Given the description of an element on the screen output the (x, y) to click on. 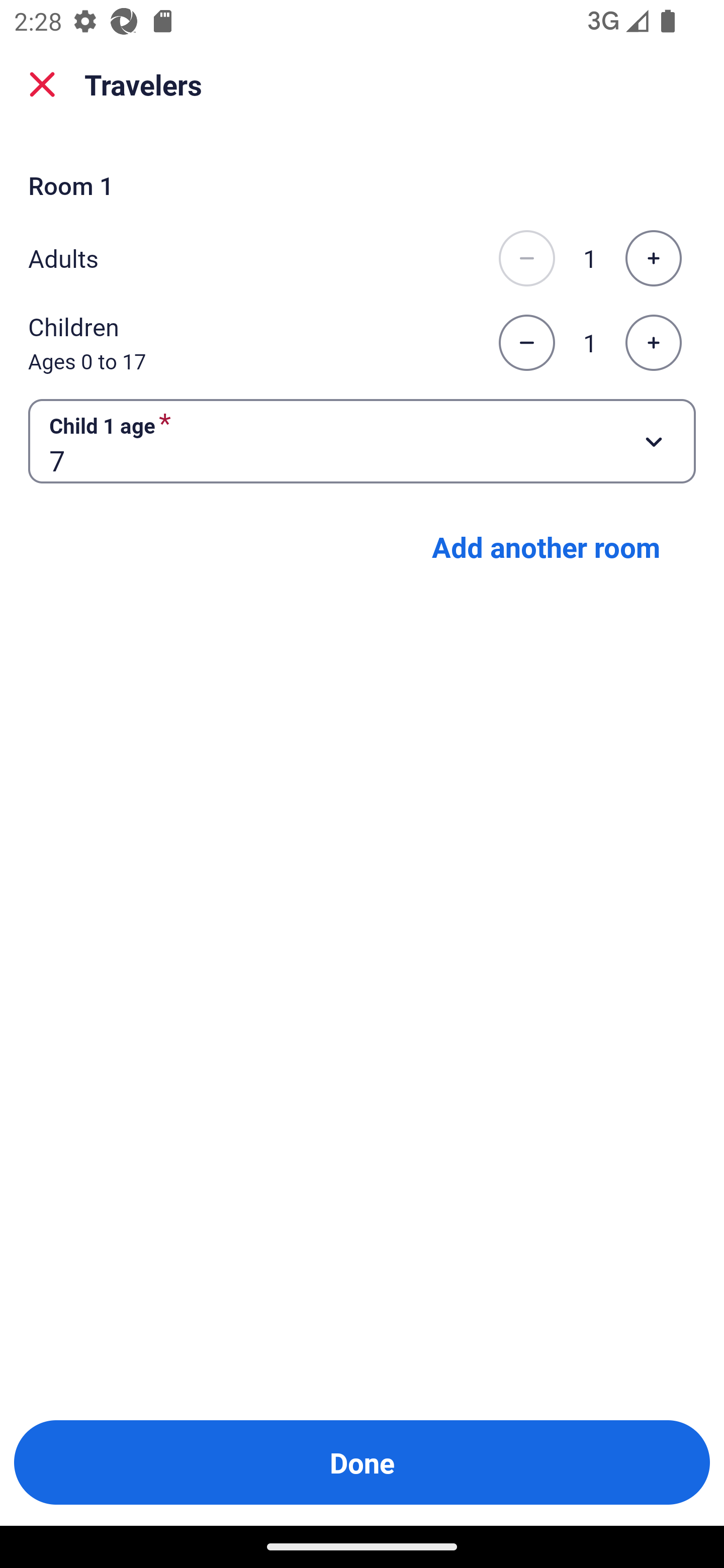
close (42, 84)
Decrease the number of adults (526, 258)
Increase the number of adults (653, 258)
Decrease the number of children (526, 343)
Increase the number of children (653, 343)
Child 1 age required Button 7 (361, 440)
Add another room (545, 546)
Done (361, 1462)
